Given the description of an element on the screen output the (x, y) to click on. 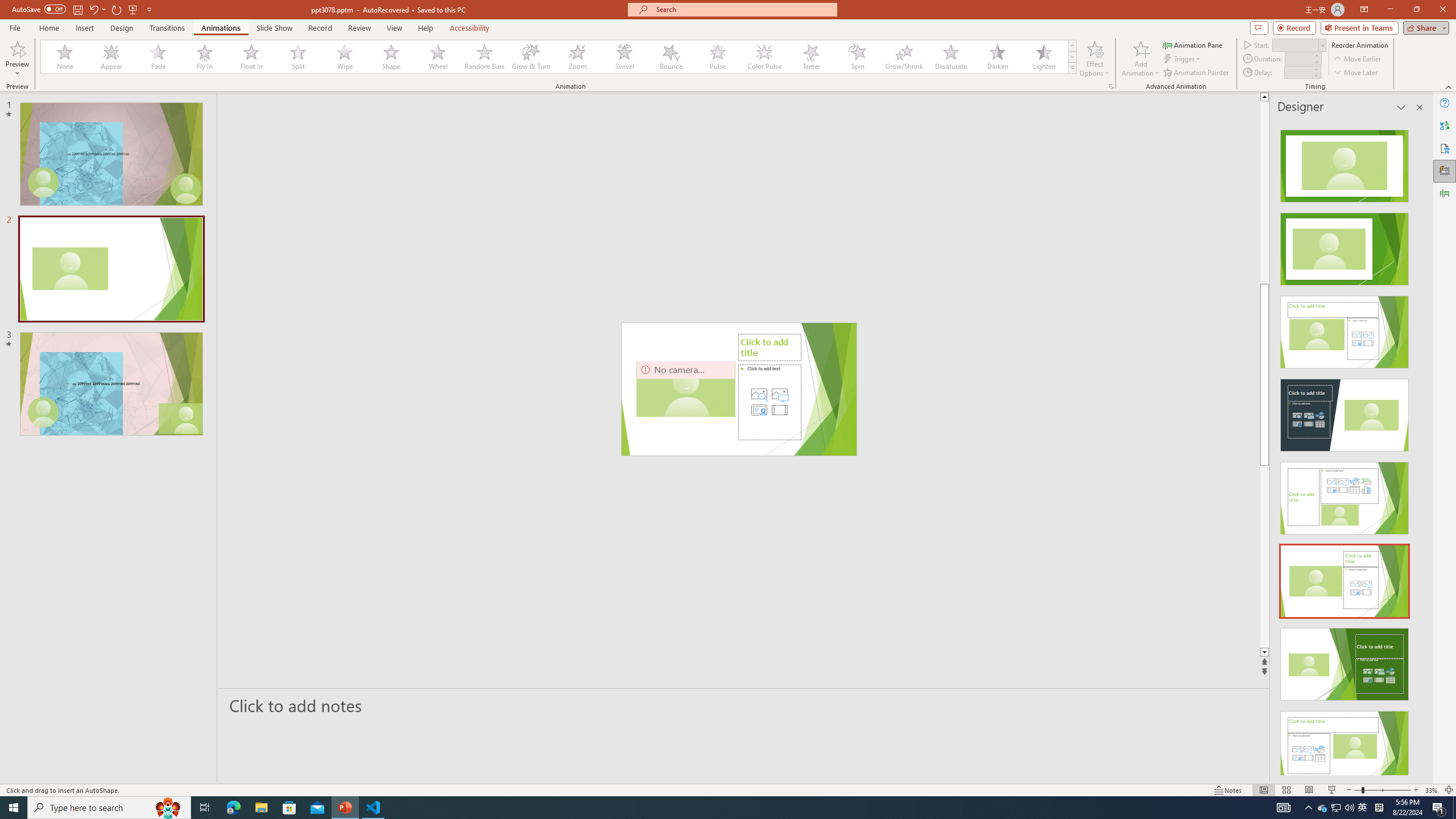
Zoom (577, 56)
Undo (92, 9)
Wheel (437, 56)
Stock Images (758, 394)
Start (1299, 44)
Effect Options (1094, 58)
Ribbon Display Options (1364, 9)
Insert Video (779, 409)
Animation Duration (1298, 58)
Translator (1444, 125)
Add Animation (1141, 58)
Customize Quick Access Toolbar (149, 9)
Accessibility (1444, 147)
Zoom 33% (1431, 790)
